Given the description of an element on the screen output the (x, y) to click on. 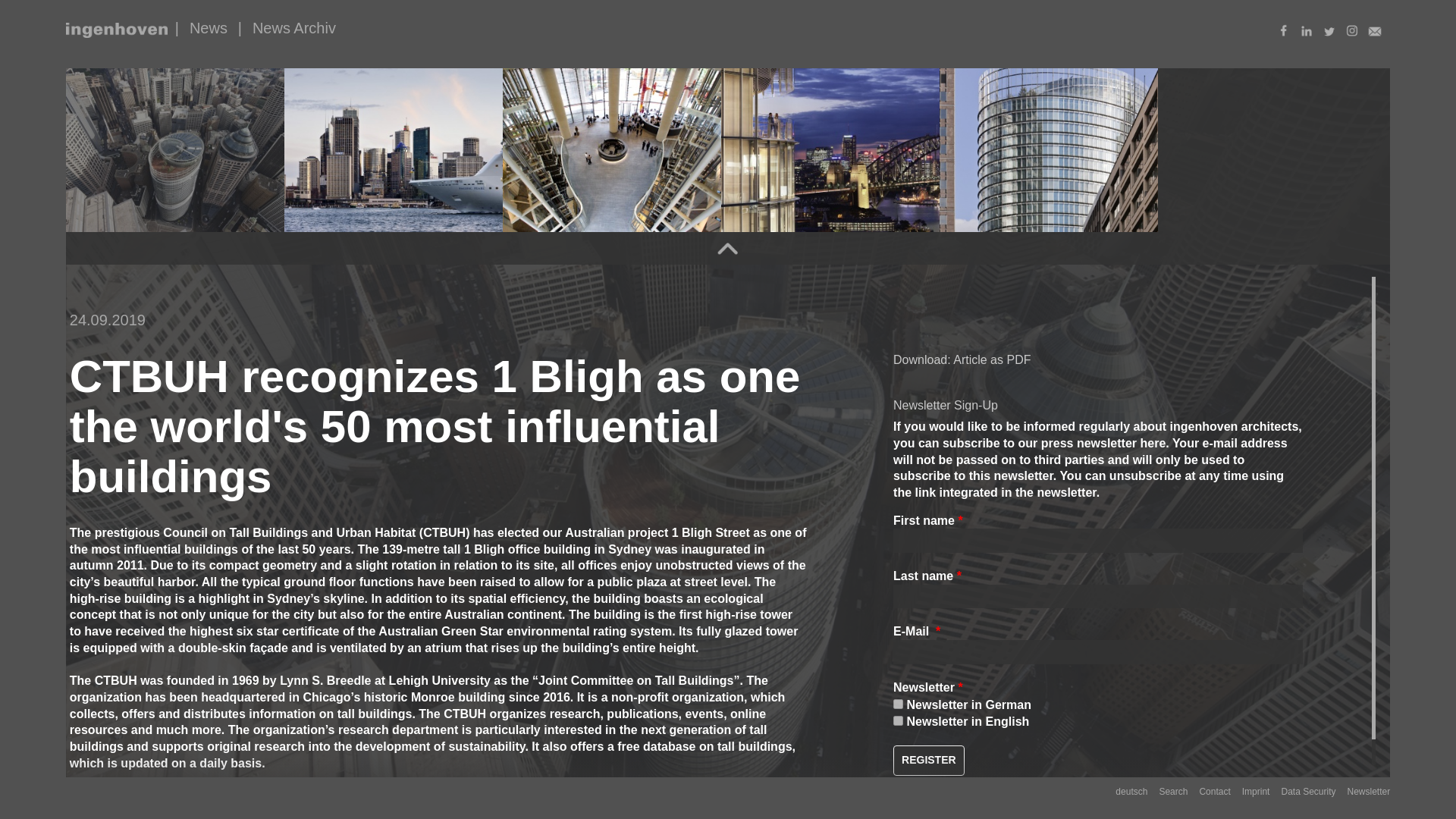
News Archiv (293, 28)
35 (897, 720)
News (208, 28)
REGISTER (928, 760)
36 (897, 704)
Download: Article as PDF (961, 359)
